Given the description of an element on the screen output the (x, y) to click on. 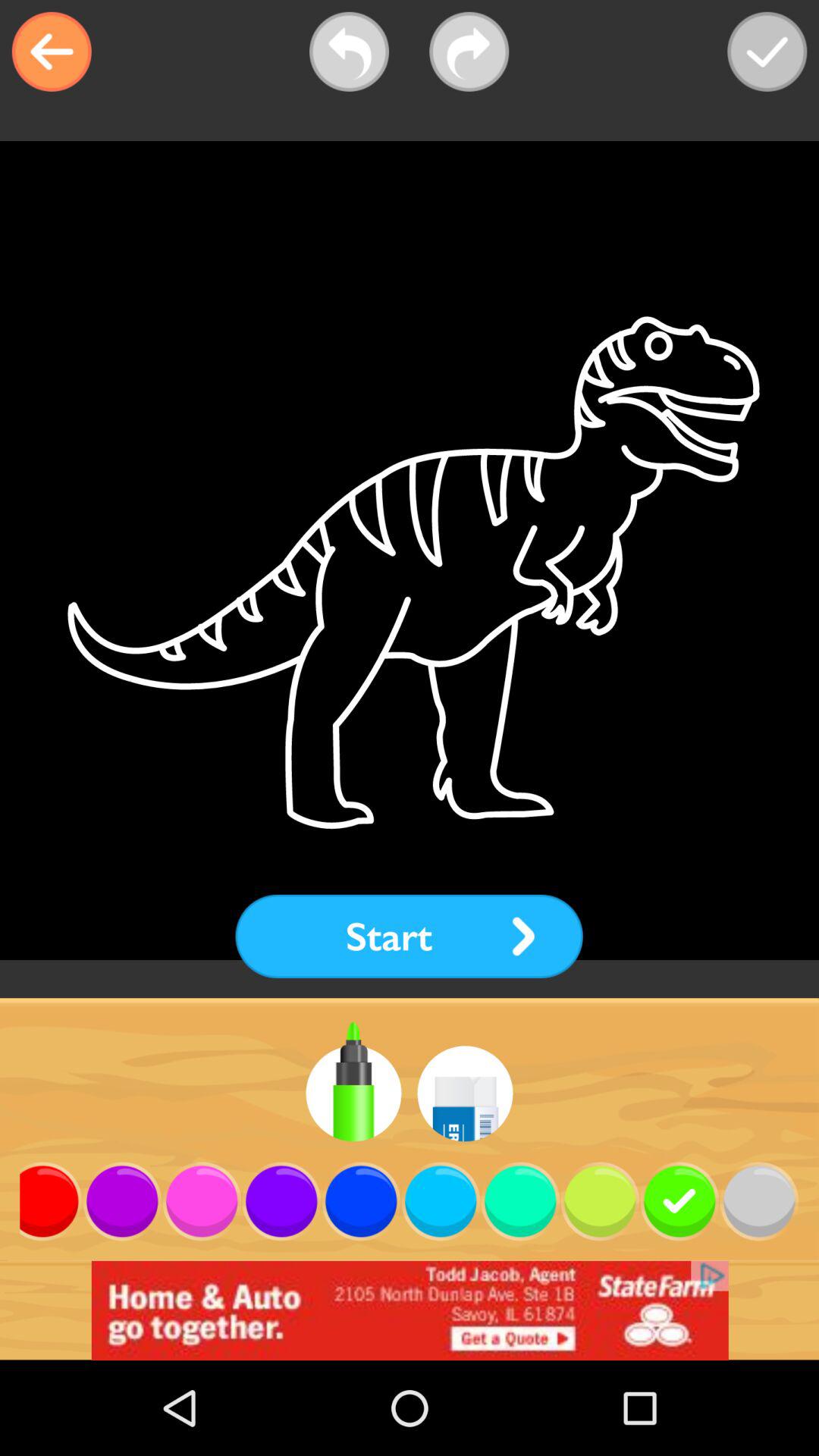
go to next bar (469, 51)
